Given the description of an element on the screen output the (x, y) to click on. 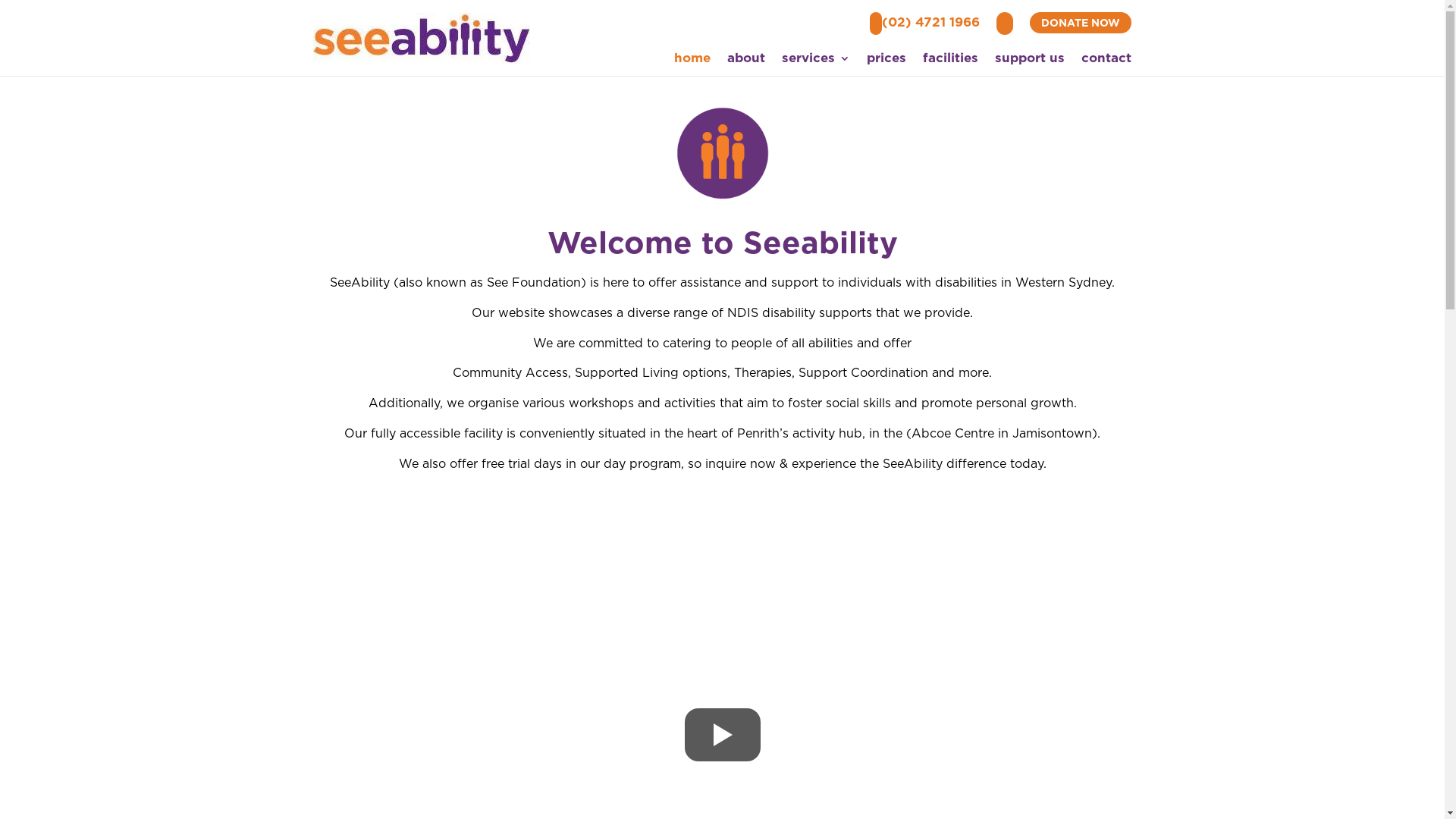
(02) 4721 1966 Element type: text (924, 25)
DONATE NOW Element type: text (1080, 22)
home Element type: text (692, 61)
contact Element type: text (1106, 61)
services Element type: text (815, 61)
about Element type: text (746, 61)
facilities Element type: text (950, 61)
prices Element type: text (886, 61)
SeeAbilityLogo Element type: hover (420, 37)
support us Element type: text (1029, 61)
SeeAbilityLogomark1-RGB Element type: hover (721, 153)
